Given the description of an element on the screen output the (x, y) to click on. 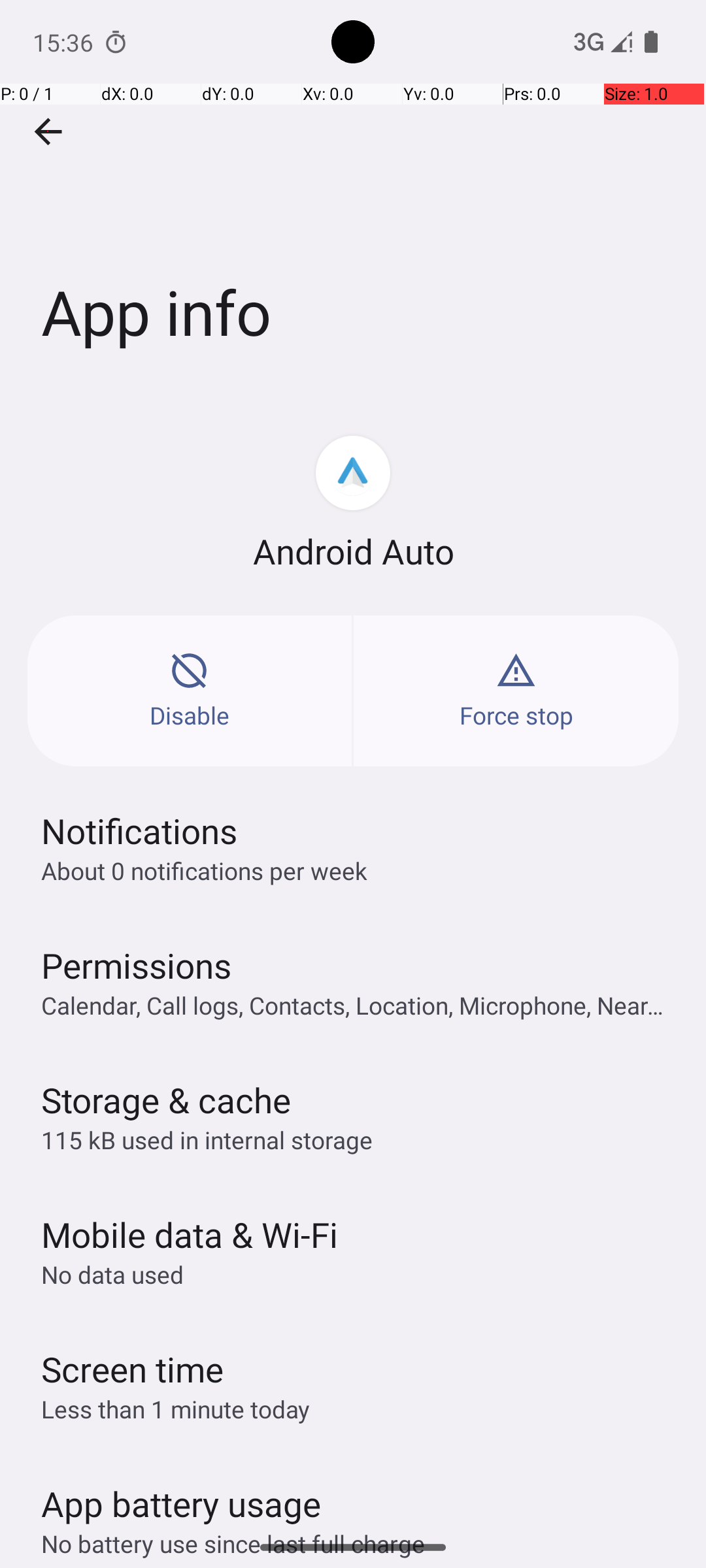
Calendar, Call logs, Contacts, Location, Microphone, Nearby devices, Notifications, Phone, and SMS Element type: android.widget.TextView (359, 1004)
115 kB used in internal storage Element type: android.widget.TextView (206, 1139)
Less than 1 minute today Element type: android.widget.TextView (175, 1408)
